Given the description of an element on the screen output the (x, y) to click on. 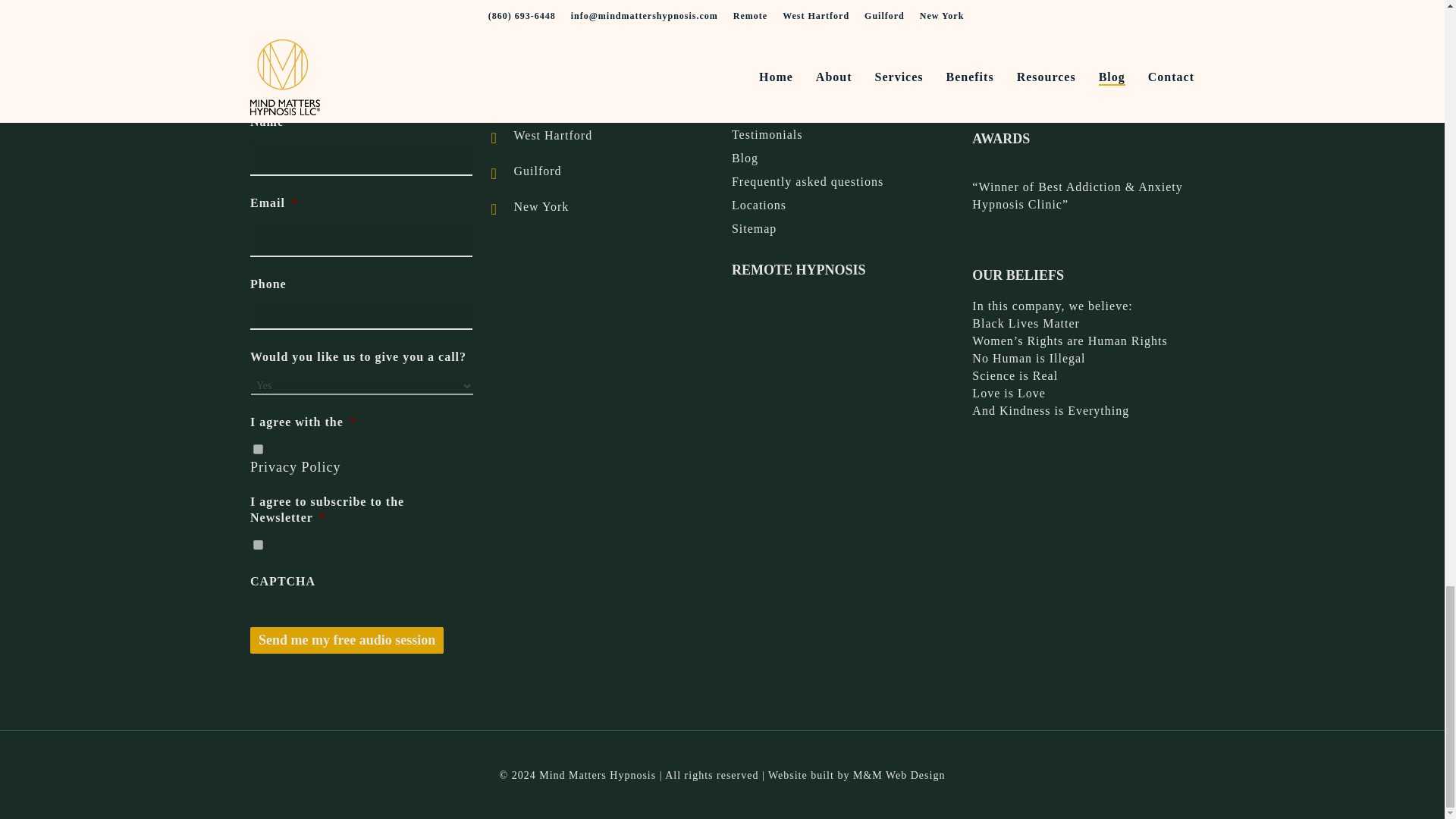
Send me my free audio session (347, 640)
1 (258, 544)
1 (258, 449)
